Given the description of an element on the screen output the (x, y) to click on. 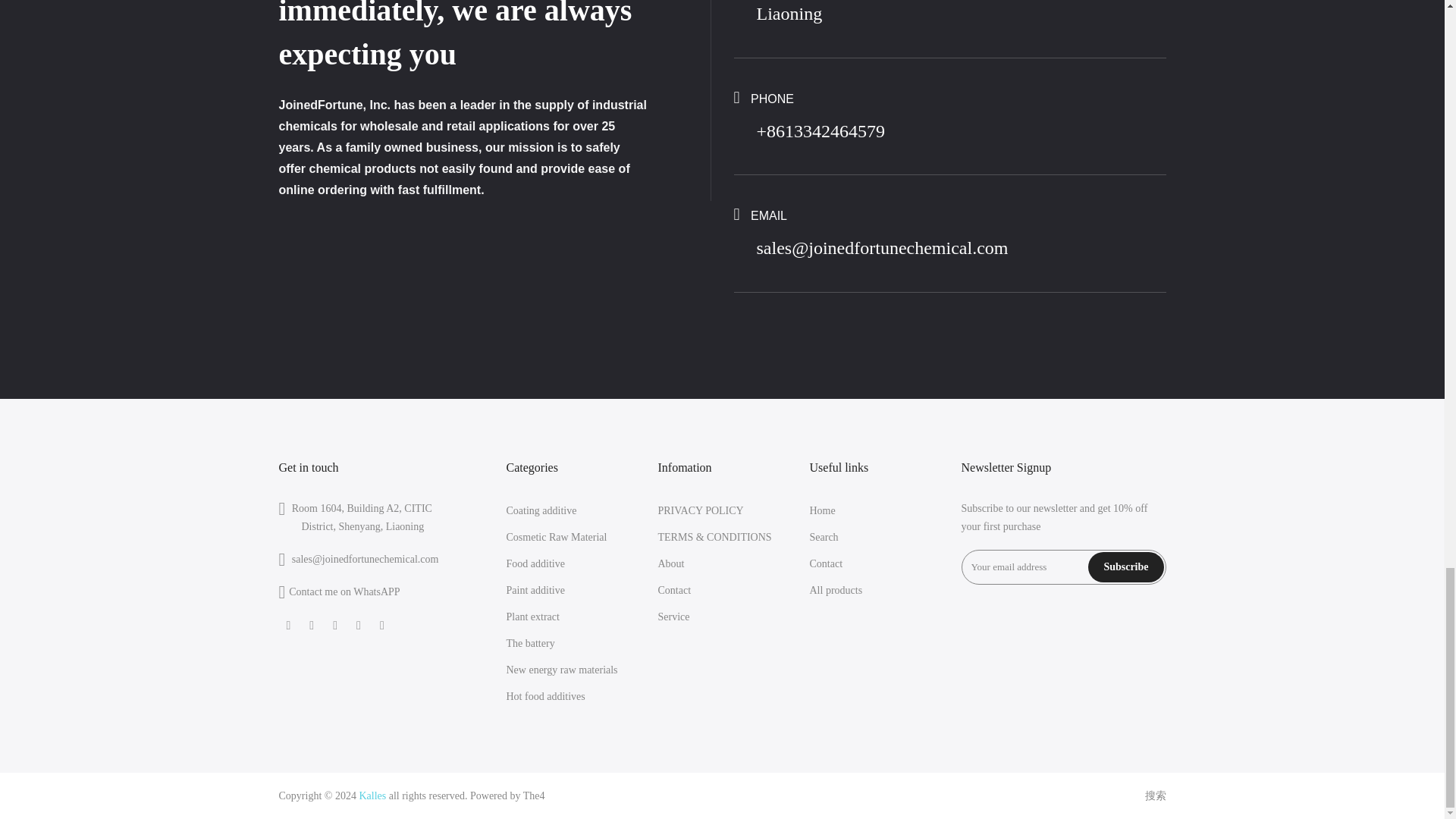
Contact me on WhatsAPP (343, 591)
Coating additive (541, 510)
Cosmetic Raw Material (556, 536)
